Given the description of an element on the screen output the (x, y) to click on. 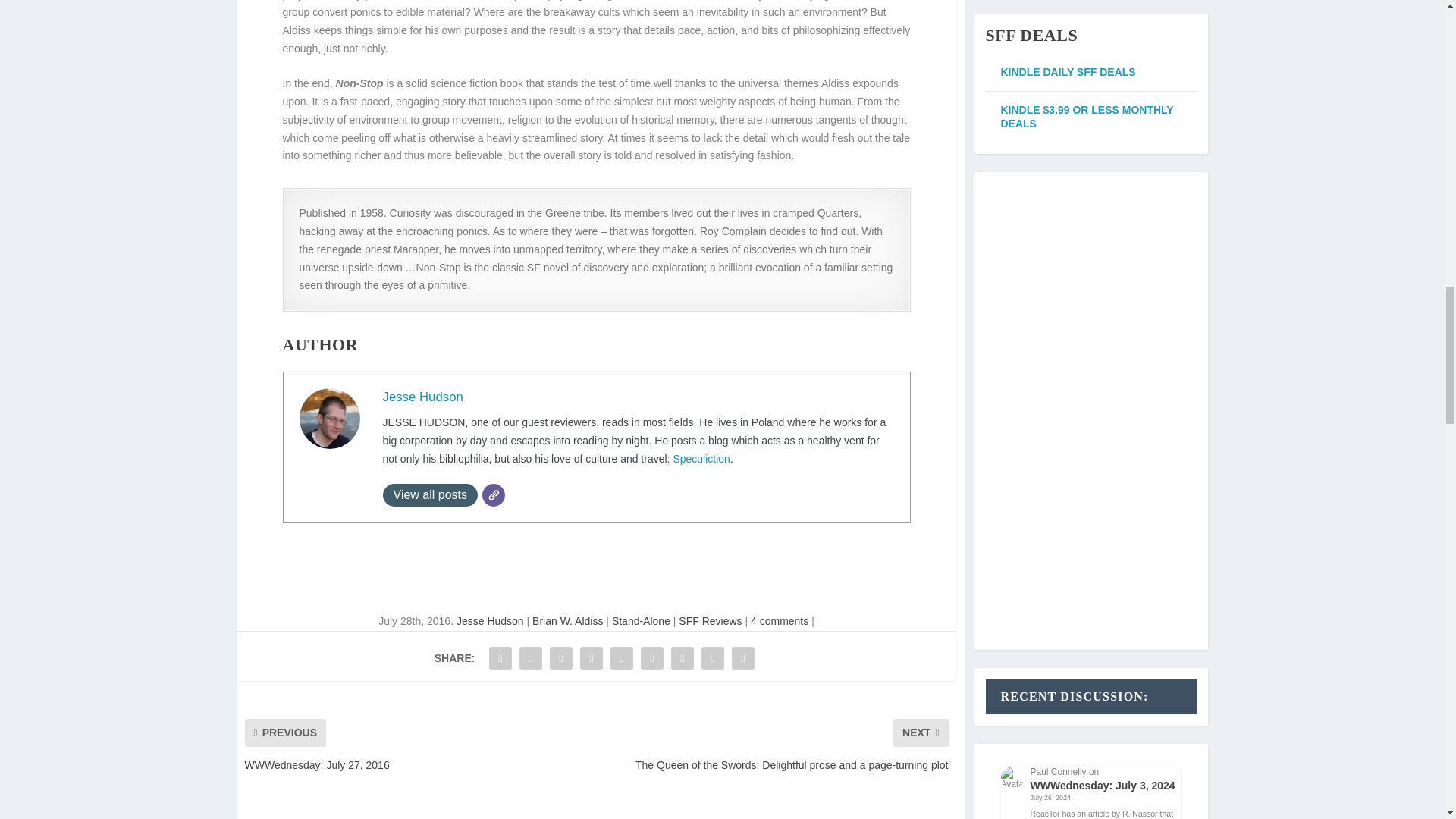
Posts by Jesse Hudson (490, 621)
View all posts (429, 495)
Jesse Hudson (422, 396)
